Given the description of an element on the screen output the (x, y) to click on. 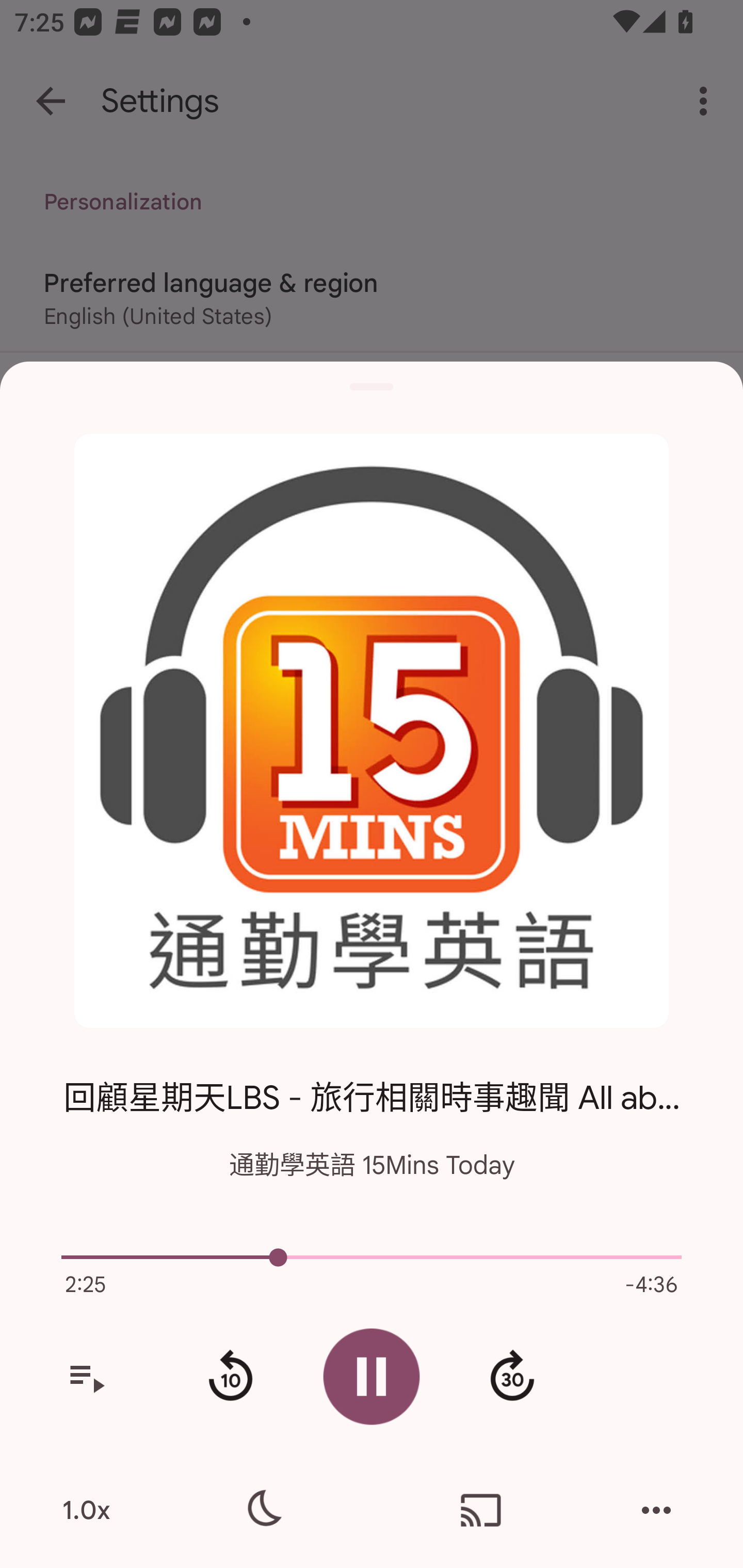
Open the show page for 通勤學英語 15Mins Today (371, 731)
3446.0 Current episode playback (371, 1257)
Pause (371, 1376)
View your queue (86, 1376)
Rewind 10 seconds (230, 1376)
Fast forward 30 second (511, 1376)
1.0x Playback speed is 1.0. (86, 1510)
Sleep timer settings (261, 1510)
Cast. Disconnected (480, 1510)
More actions (655, 1510)
